Given the description of an element on the screen output the (x, y) to click on. 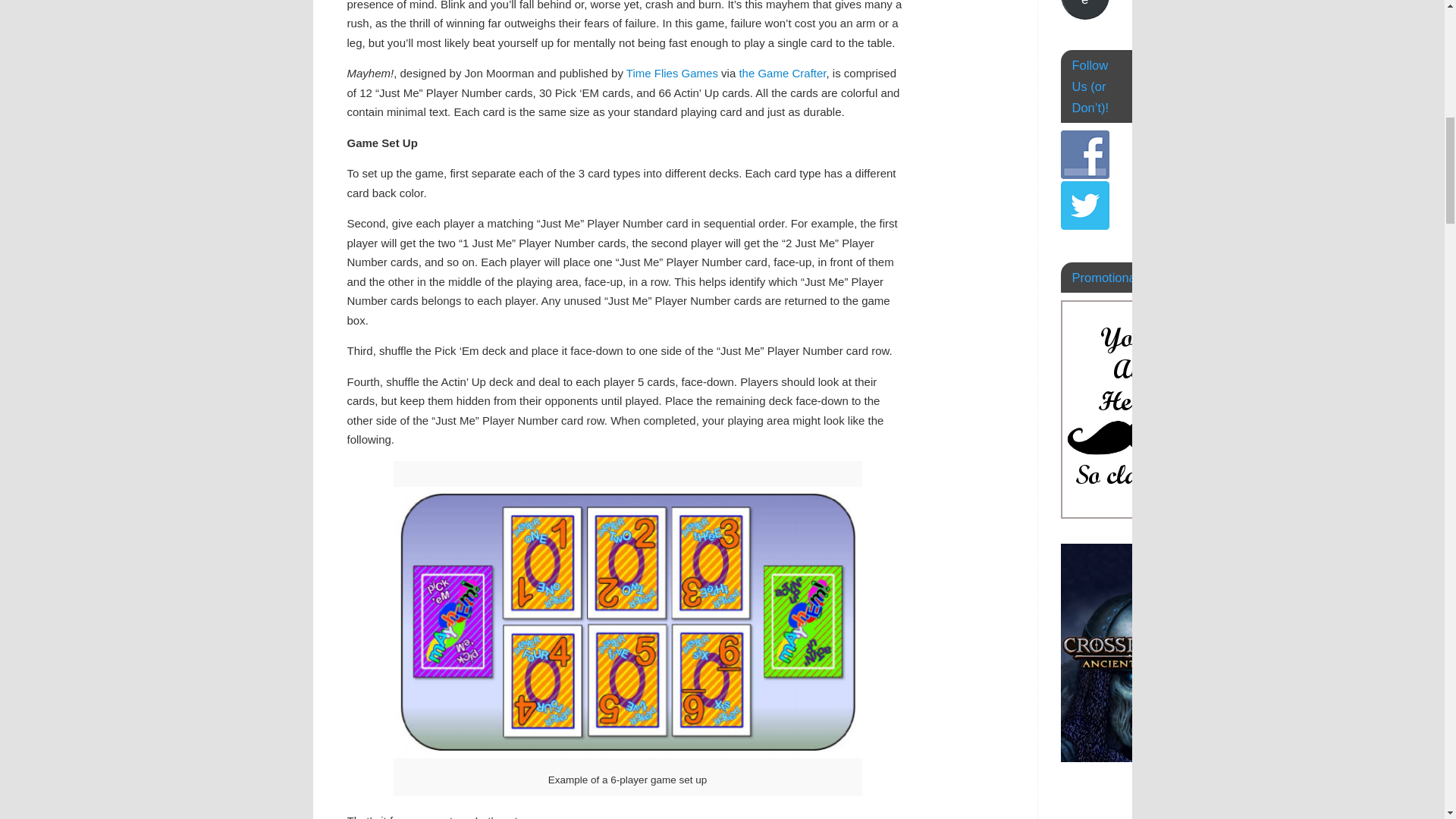
Time Flies Games (671, 72)
the Game Crafter (781, 72)
